Given the description of an element on the screen output the (x, y) to click on. 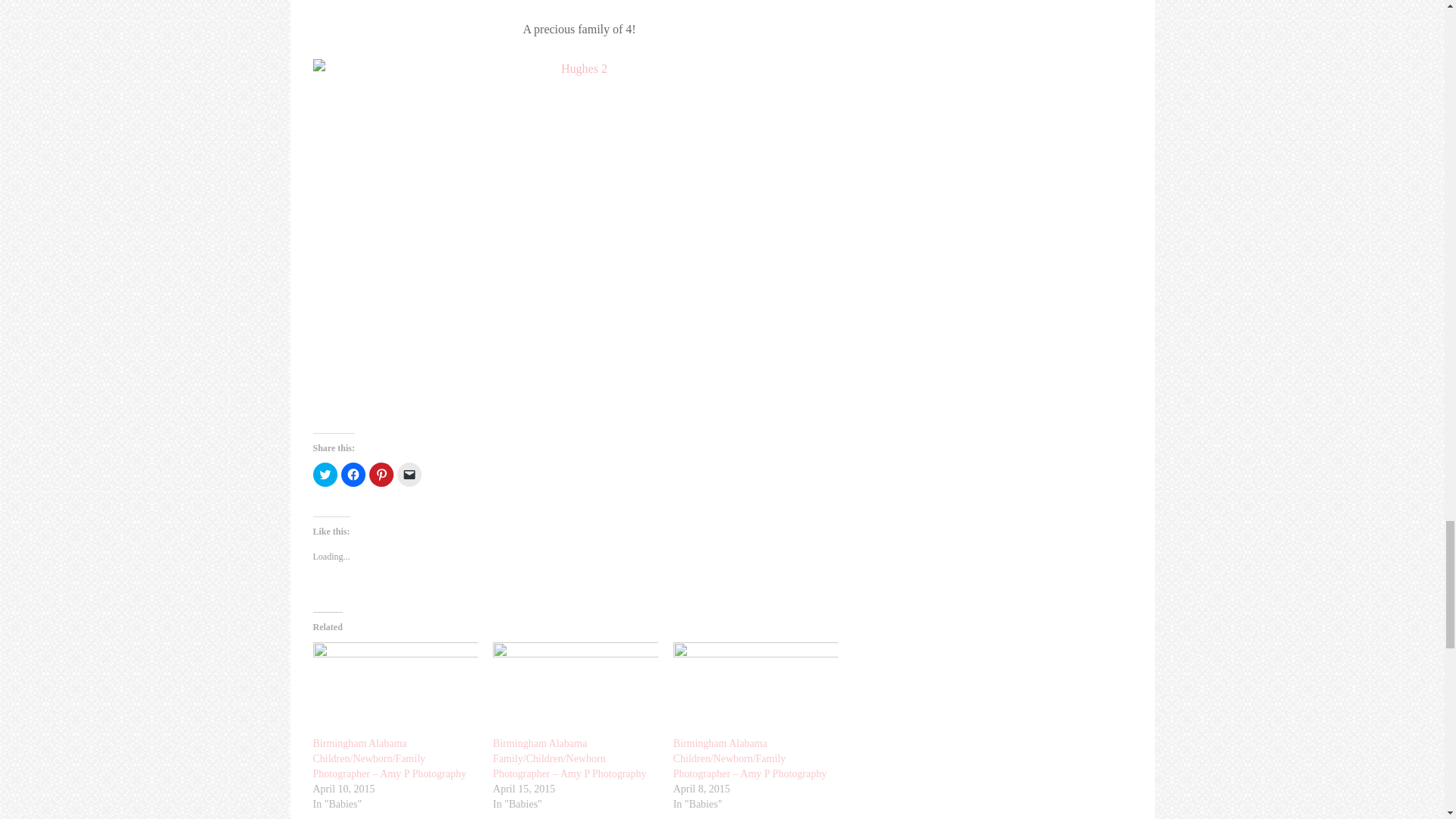
Click to email a link to a friend (409, 474)
Click to share on Twitter (324, 474)
Click to share on Pinterest (380, 474)
Click to share on Facebook (352, 474)
